Given the description of an element on the screen output the (x, y) to click on. 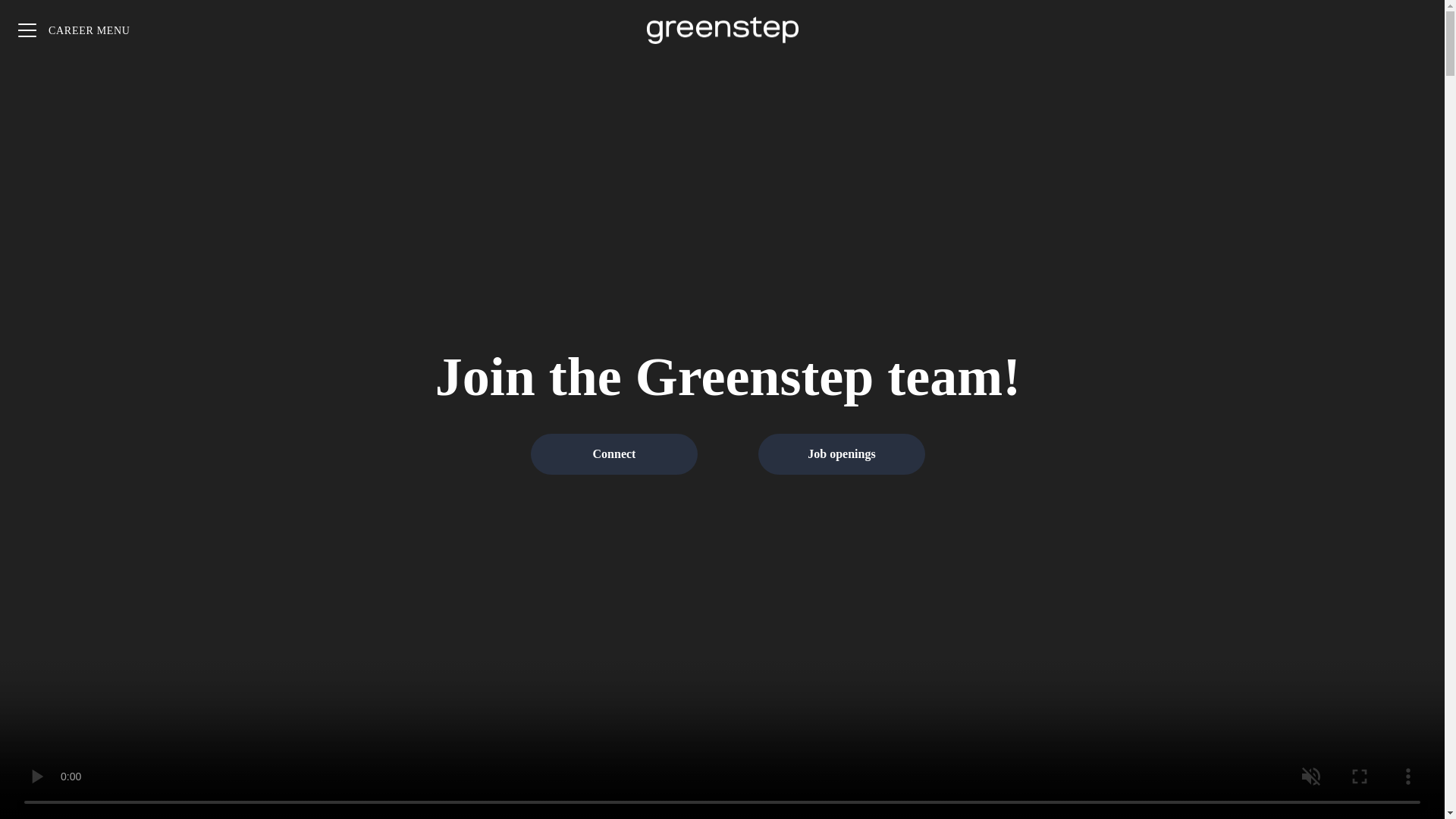
CAREER MENU (73, 30)
Career menu (73, 30)
Connect (614, 454)
Share page (1414, 30)
Job openings (841, 454)
